Given the description of an element on the screen output the (x, y) to click on. 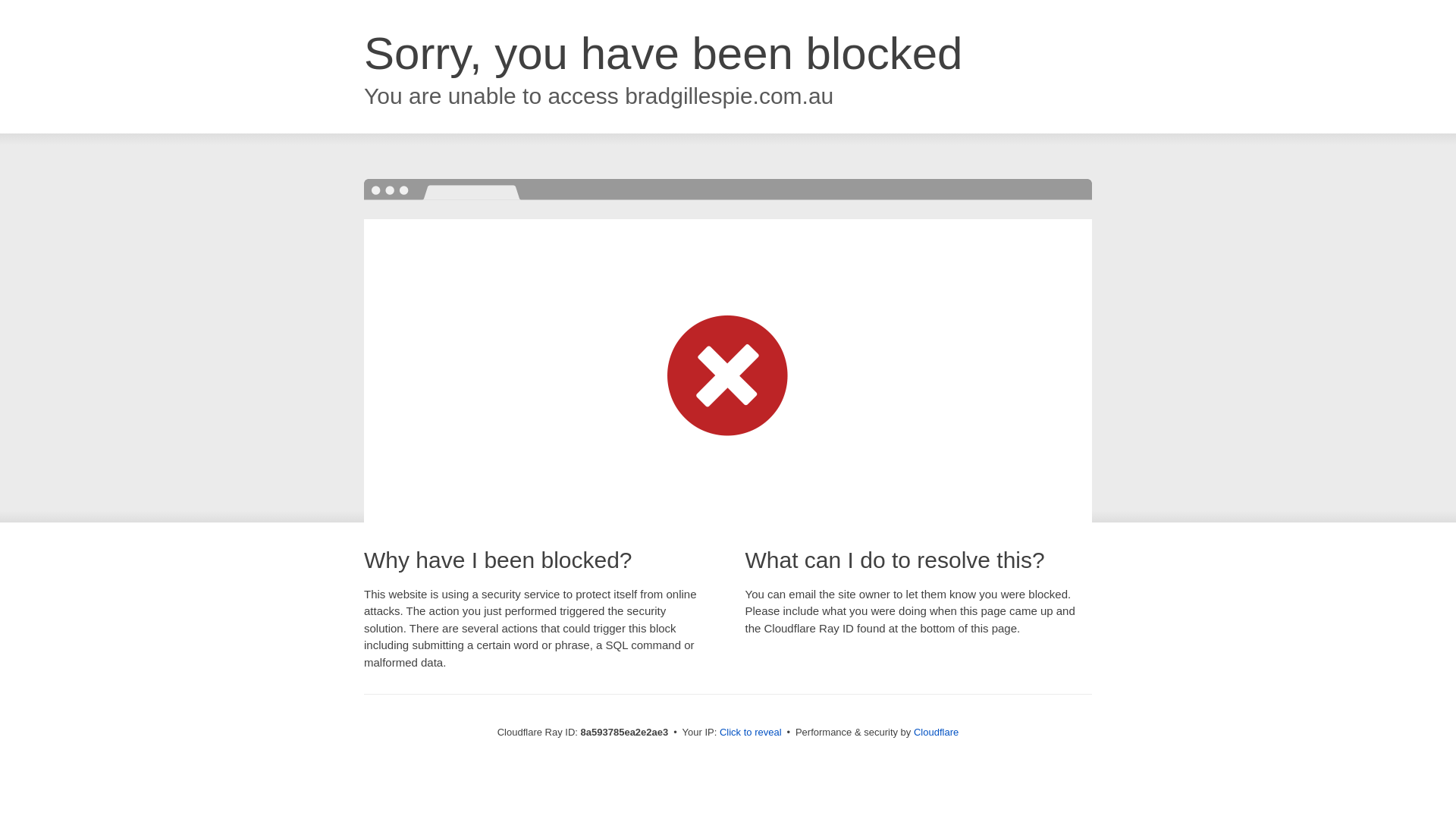
Click to reveal (750, 732)
Cloudflare (936, 731)
